Given the description of an element on the screen output the (x, y) to click on. 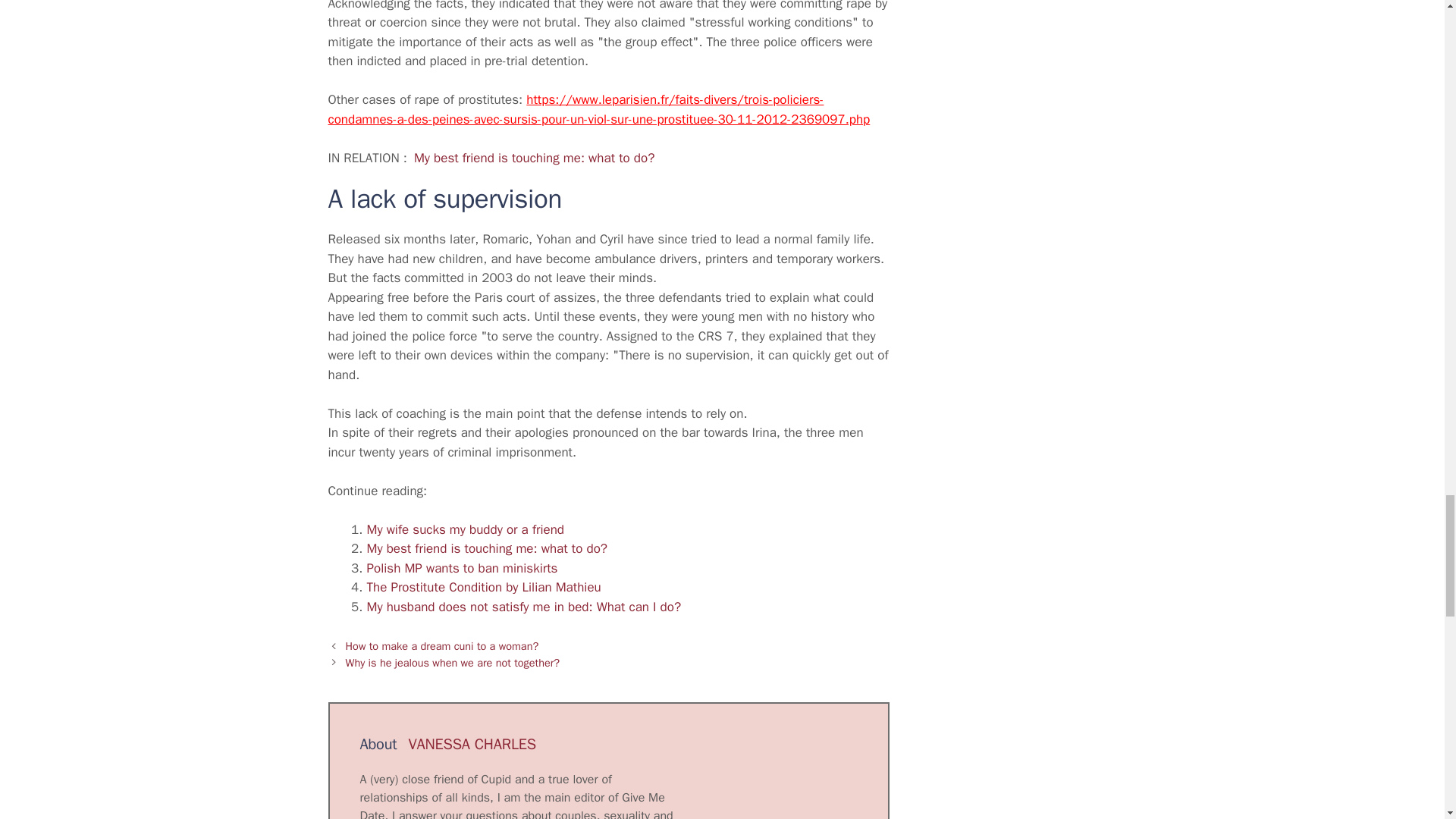
The Prostitute Condition by Lilian Mathieu (483, 587)
My best friend is touching me: what to do? (486, 548)
My husband does not satisfy me in bed: What can I do? (523, 606)
Polish MP wants to ban miniskirts (461, 568)
My wife sucks my buddy or a friend (465, 529)
